Given the description of an element on the screen output the (x, y) to click on. 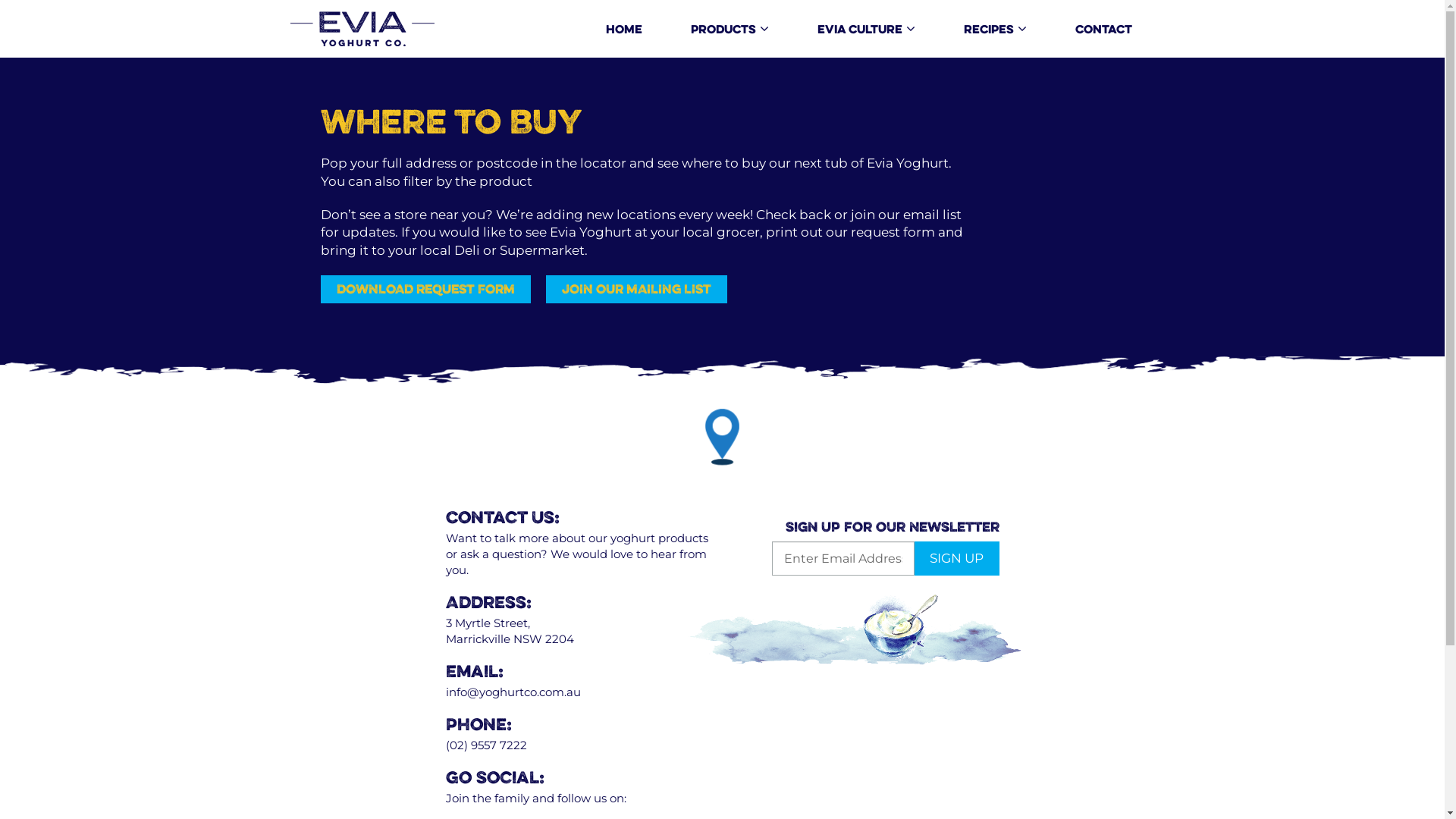
PRODUCTS Element type: text (728, 30)
info@yoghurtco.com.au Element type: text (512, 691)
DOWNLOAD REQUEST FORM Element type: text (425, 289)
HOME Element type: text (623, 30)
RECIPES Element type: text (994, 30)
EVIA CULTURE Element type: text (866, 30)
JOIN OUR MAILING LIST Element type: text (636, 289)
SIGN UP Element type: text (955, 558)
CONTACT Element type: text (1103, 30)
(02) 9557 7222 Element type: text (486, 744)
